Given the description of an element on the screen output the (x, y) to click on. 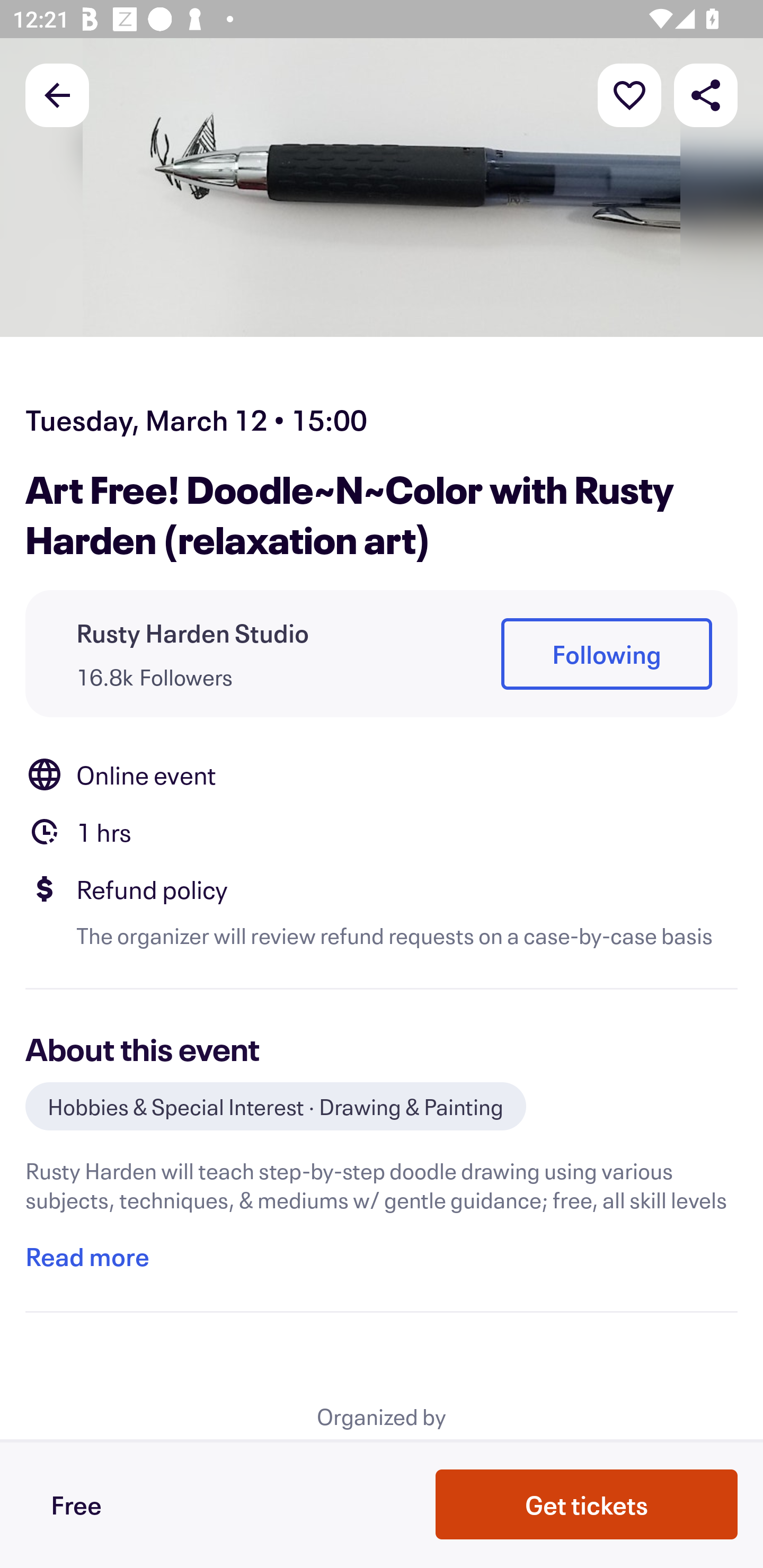
Back (57, 94)
More (629, 94)
Share (705, 94)
Rusty Harden Studio (192, 632)
Following (606, 654)
Location Online event (381, 774)
Read more (87, 1256)
Get tickets (586, 1504)
